Given the description of an element on the screen output the (x, y) to click on. 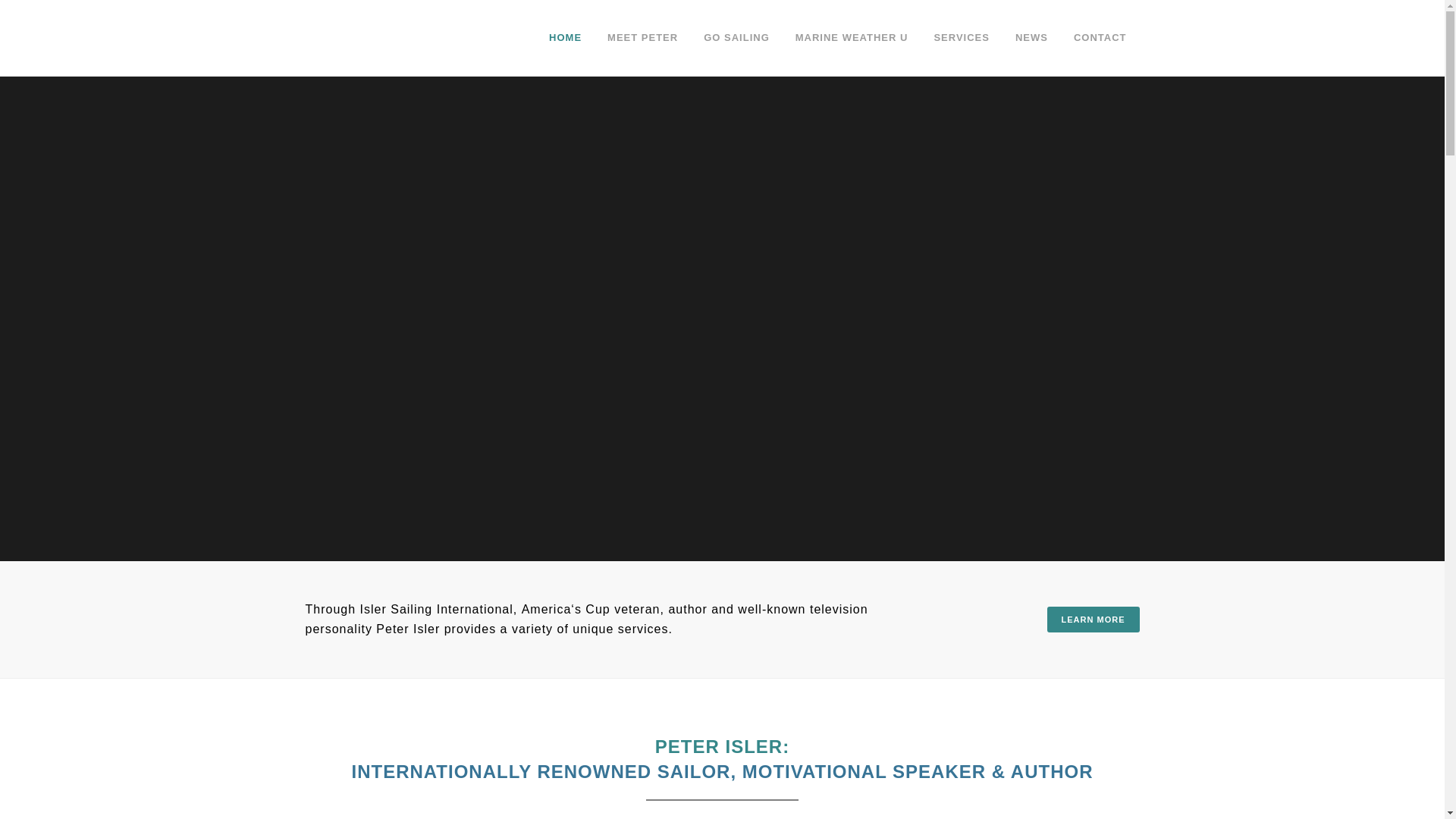
MEET PETER (642, 38)
2017 J CLASS WORLDS (1097, 584)
spartan (973, 646)
2017 J CLASS WORLDS (1035, 584)
2017 J CLASS WORLDS (973, 584)
MARINE WEATHER U (852, 38)
SERVICES (961, 38)
CONTACT (1100, 38)
GO SAILING (736, 38)
